Given the description of an element on the screen output the (x, y) to click on. 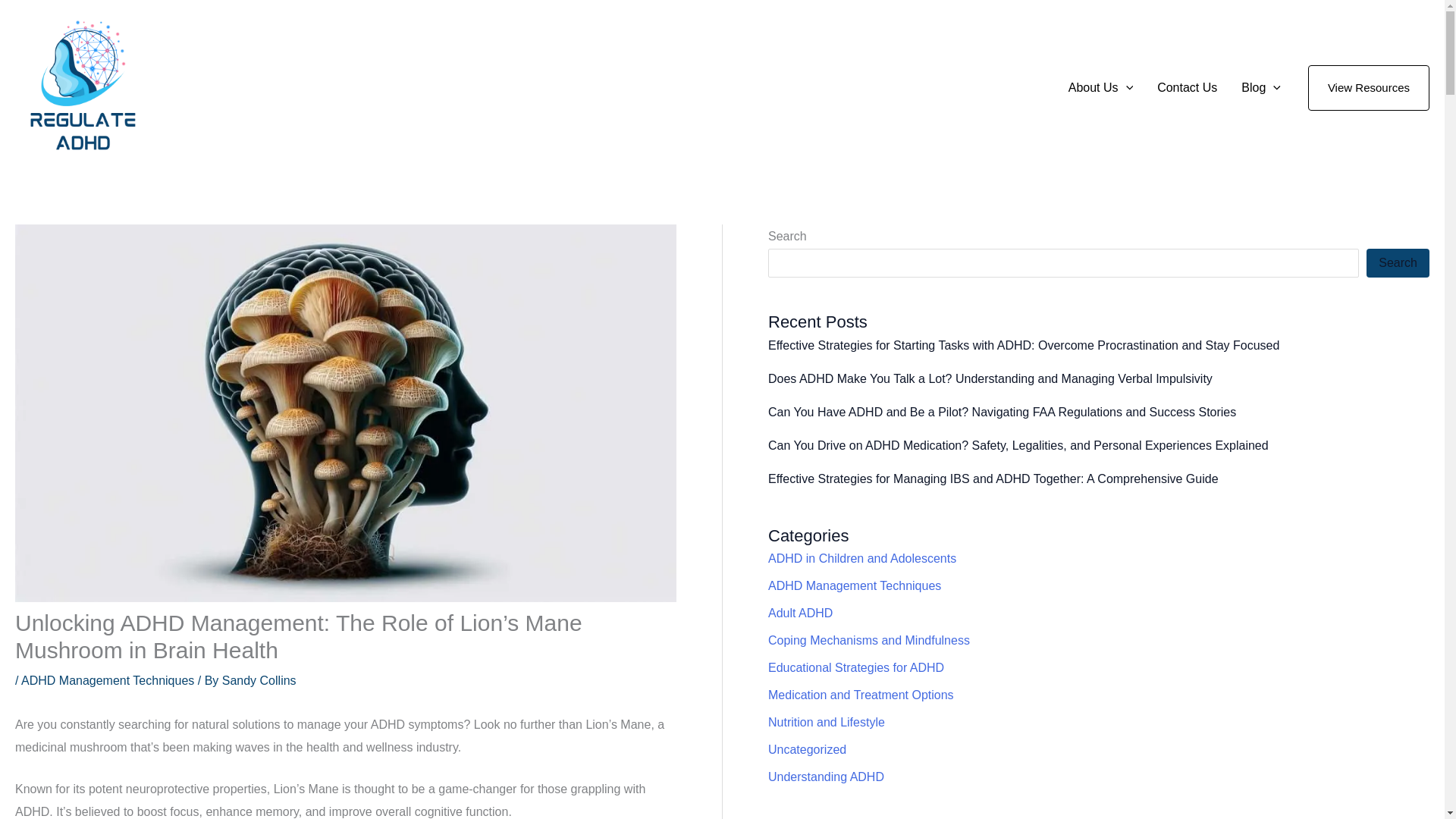
ADHD Management Techniques (107, 680)
About Us (1100, 87)
Sandy Collins (259, 680)
Contact Us (1186, 87)
Blog (1260, 87)
View all posts by Sandy Collins (259, 680)
View Resources (1368, 87)
